Given the description of an element on the screen output the (x, y) to click on. 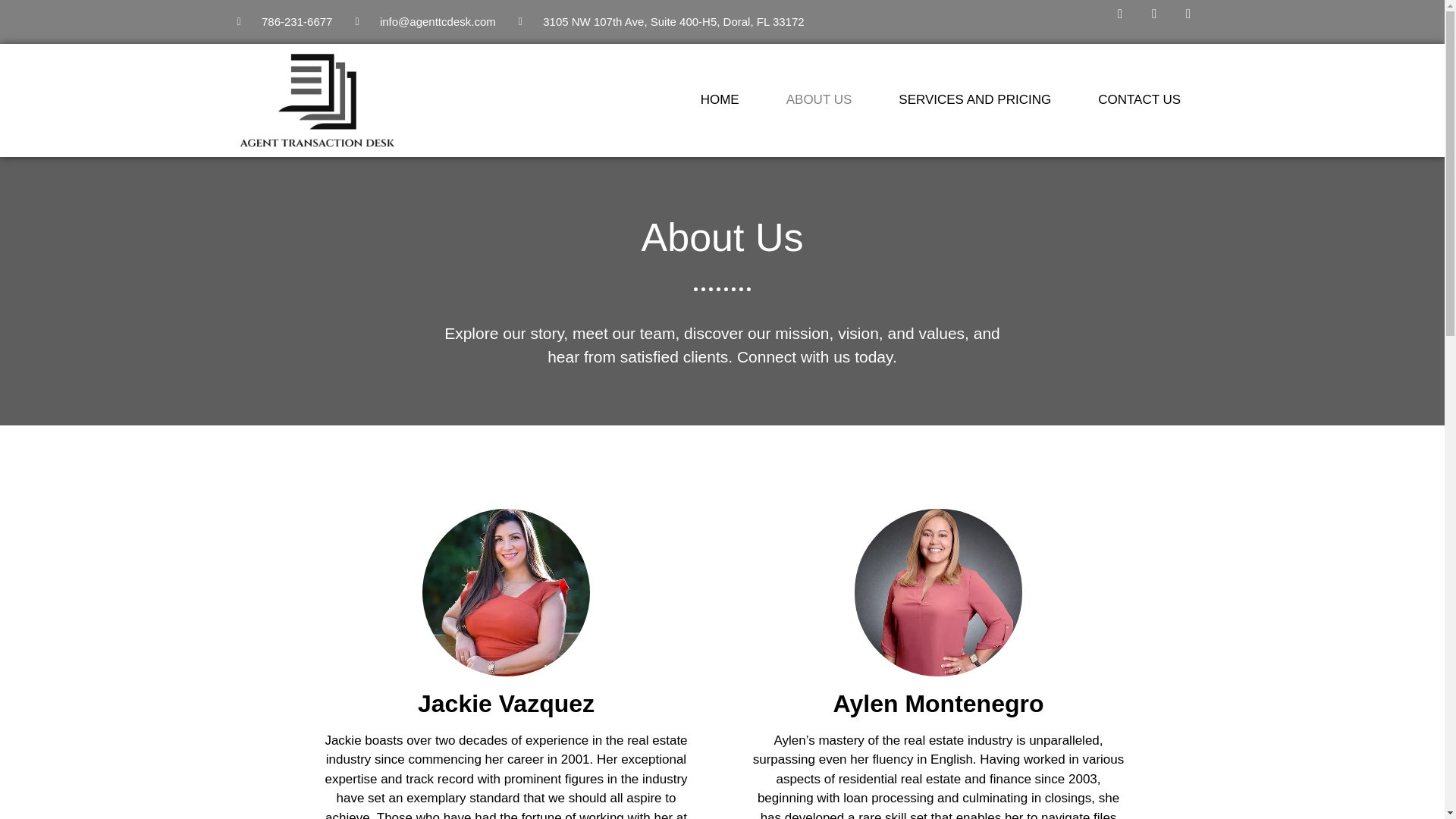
ABOUT US (819, 99)
SERVICES AND PRICING (974, 99)
HOME (719, 99)
786-231-6677 (283, 21)
CONTACT US (1139, 99)
